Given the description of an element on the screen output the (x, y) to click on. 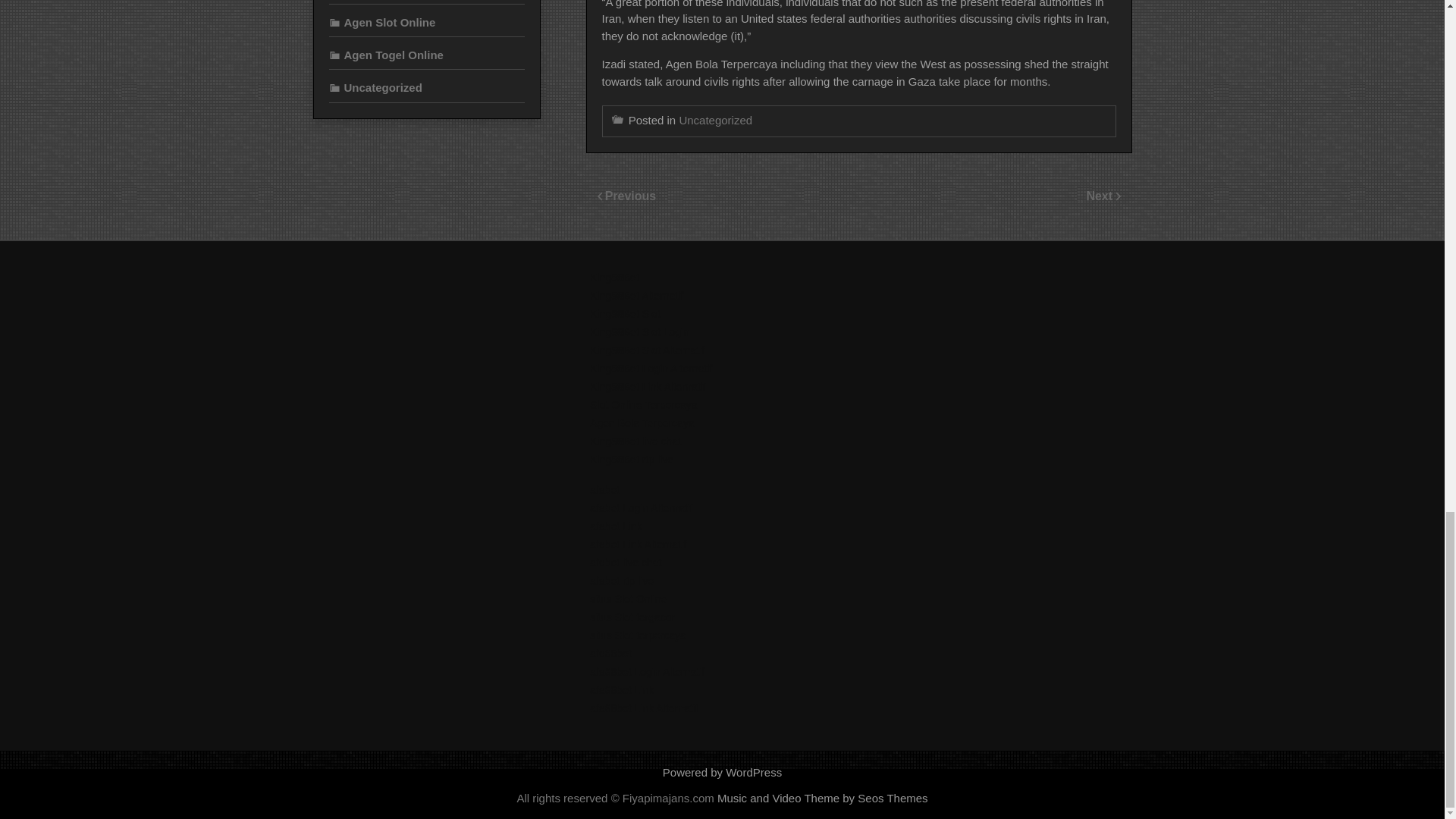
Previous (630, 195)
Uncategorized (715, 119)
Seos Theme - Music and Video (822, 797)
Next (1100, 195)
